Given the description of an element on the screen output the (x, y) to click on. 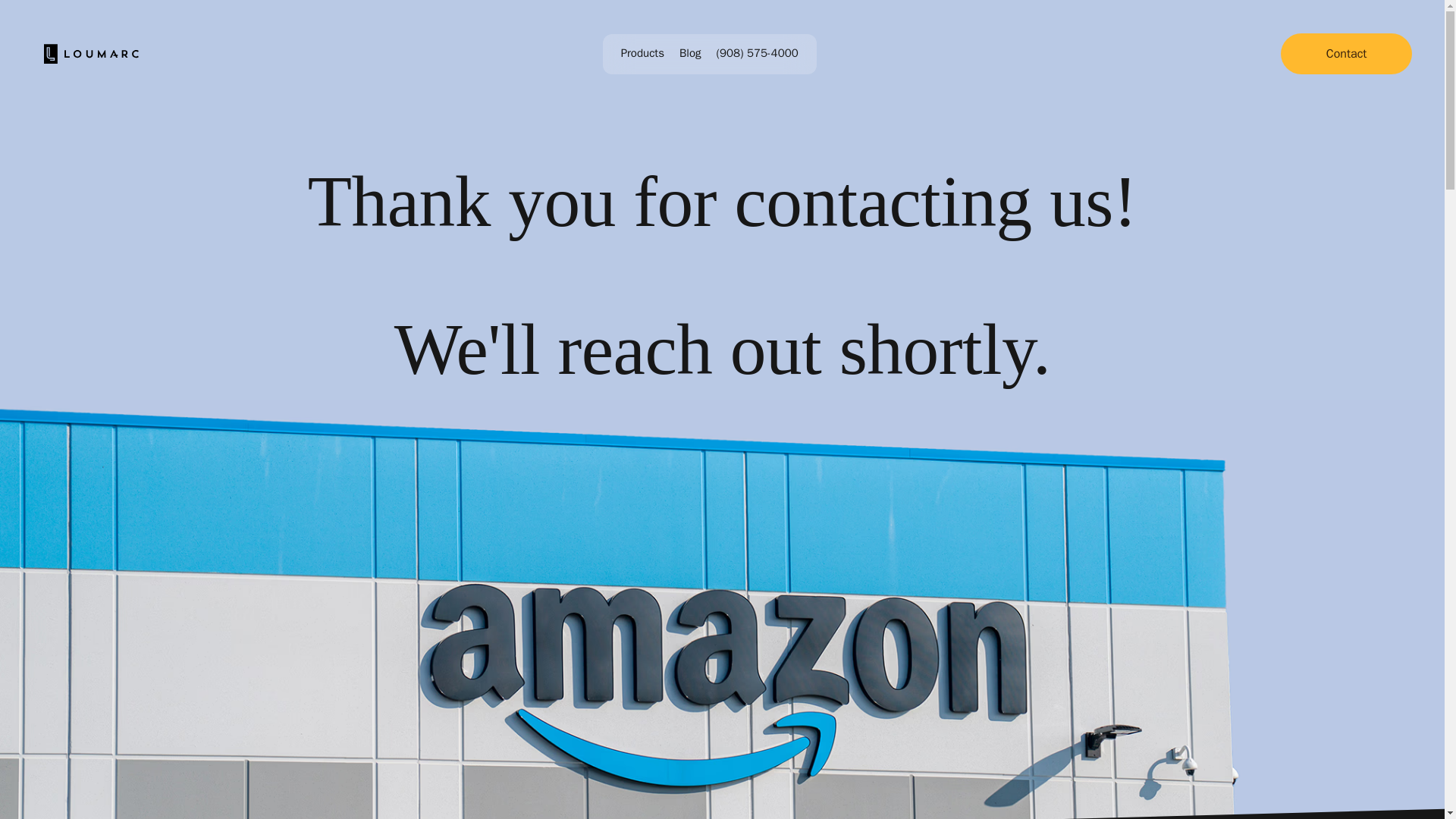
Contact (1346, 53)
Products (642, 52)
Loumarc Signs (90, 53)
Blog (690, 52)
